Given the description of an element on the screen output the (x, y) to click on. 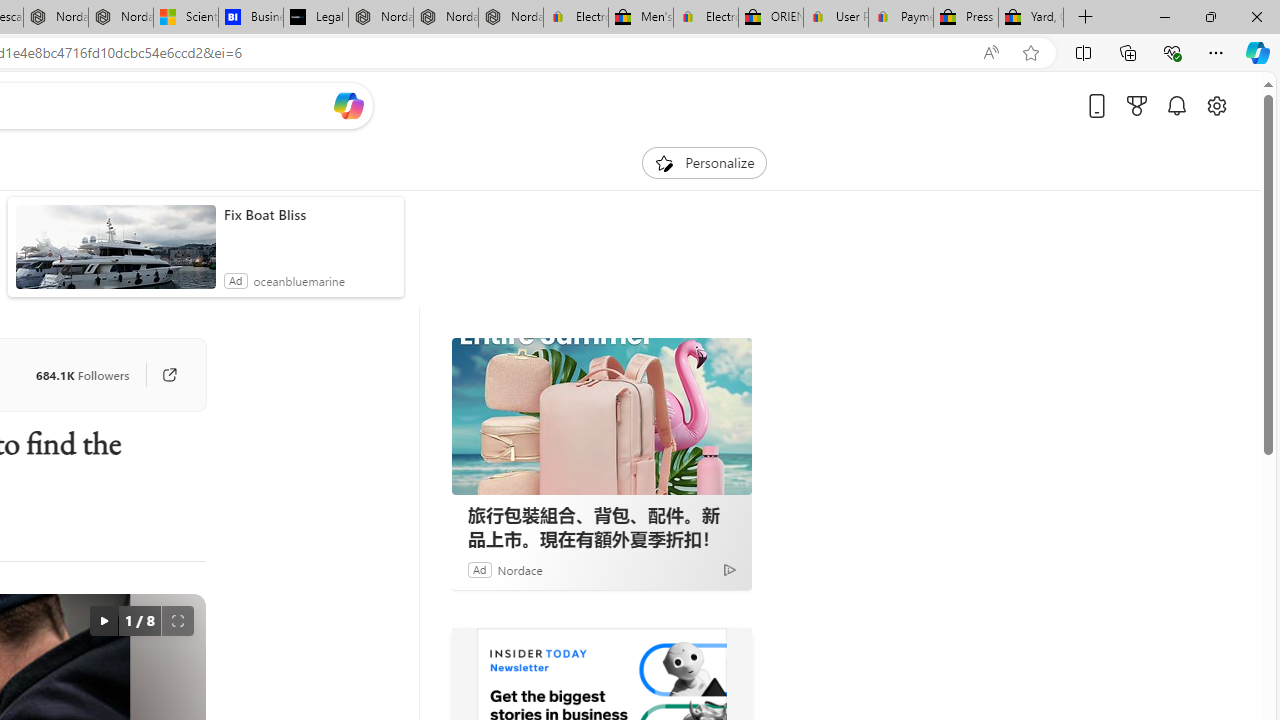
Fix Boat Bliss (308, 214)
Personalize (703, 162)
Payments Terms of Use | eBay.com (901, 17)
anim-content (115, 255)
Nordace - Summer Adventures 2024 (56, 17)
